Given the description of an element on the screen output the (x, y) to click on. 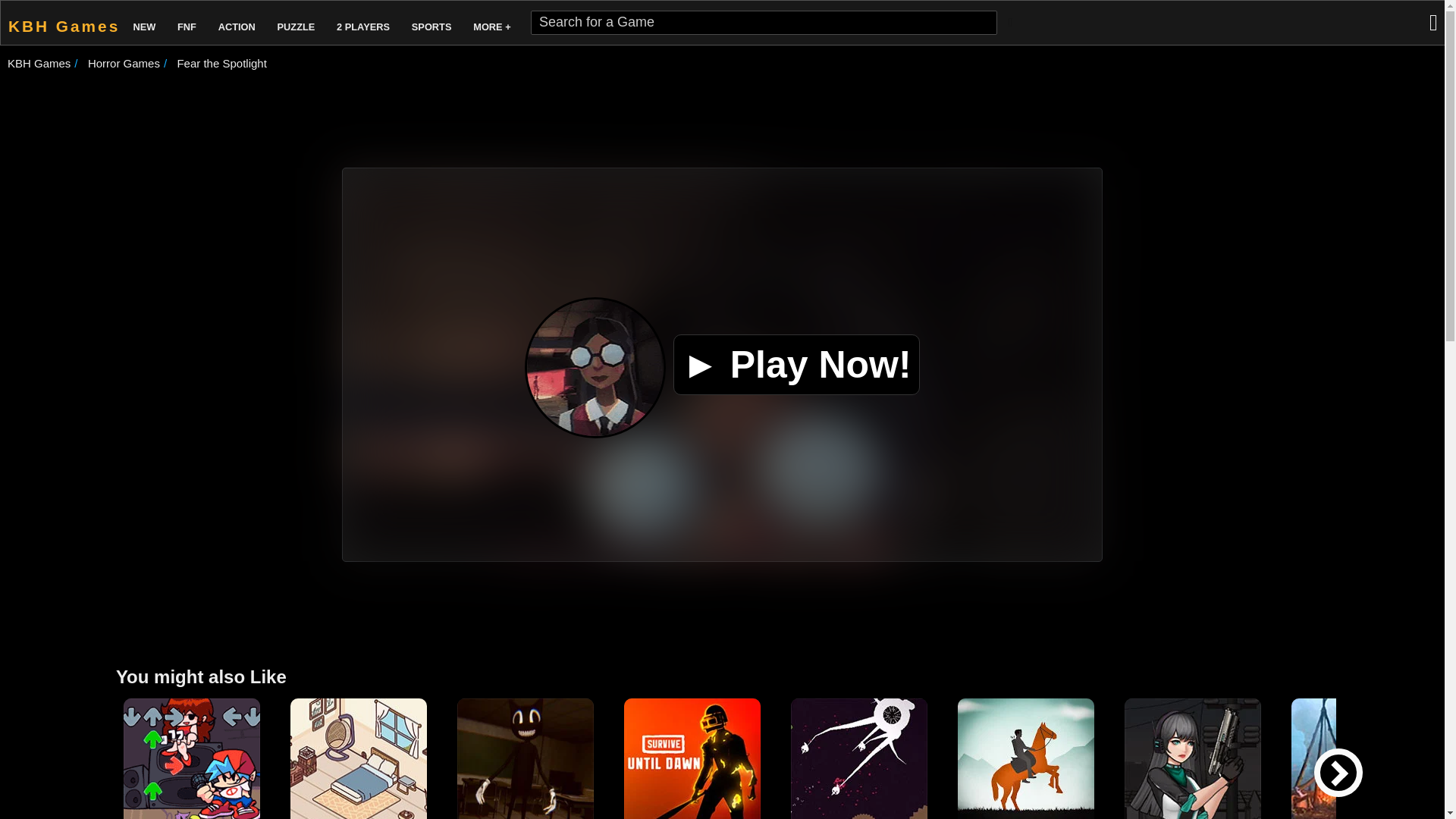
KBH Games (38, 62)
Advertisement (722, 115)
Live or Die Survival (1359, 758)
Horror Games (123, 62)
SPORTS (432, 22)
Friday Night Funkin' (191, 758)
Doomsday Survival RPG Shooter (1192, 758)
Void Fish (858, 758)
KBH Games (61, 22)
NEW (143, 22)
Survive Until Dawn (692, 758)
2 PLAYERS (363, 22)
Cozy Room Design (357, 758)
Cartoon Cat - School Horror (525, 758)
Advertisement (722, 611)
